Given the description of an element on the screen output the (x, y) to click on. 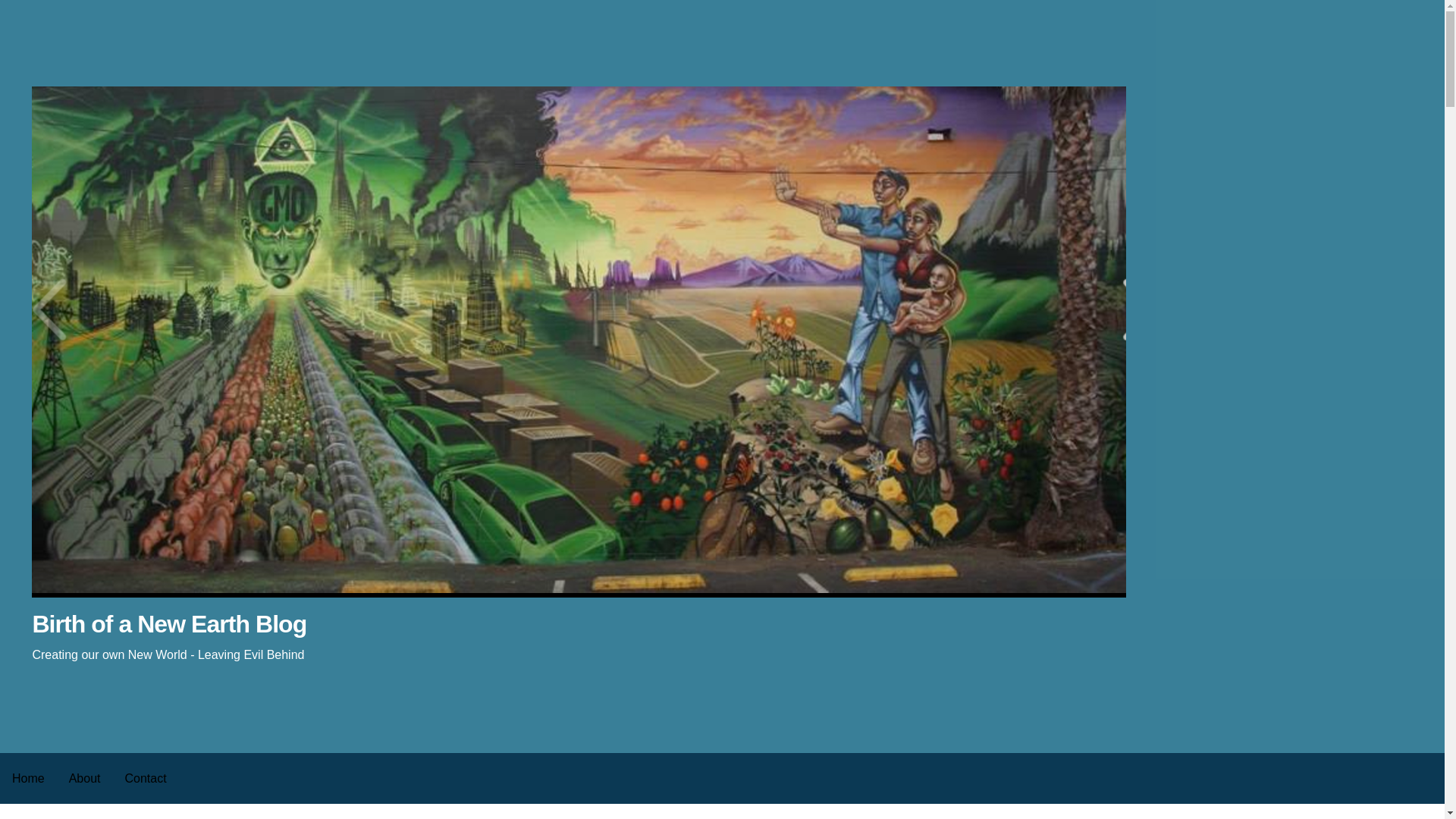
Home (28, 777)
Birth of a New Earth Blog (168, 624)
Contact (144, 777)
About (84, 777)
